Given the description of an element on the screen output the (x, y) to click on. 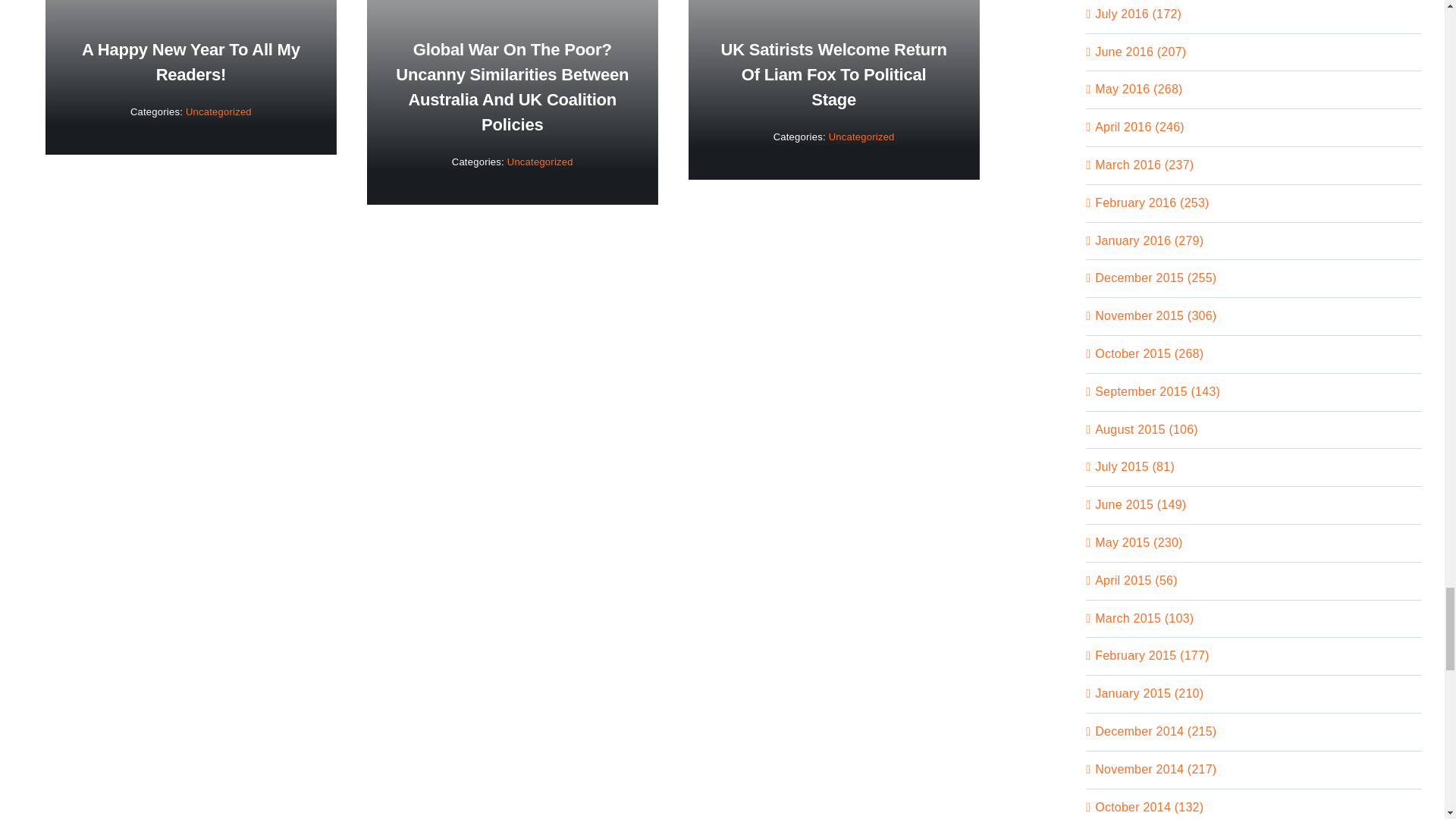
A Happy New Year To All My Readers! (190, 62)
Uncategorized (218, 111)
